Given the description of an element on the screen output the (x, y) to click on. 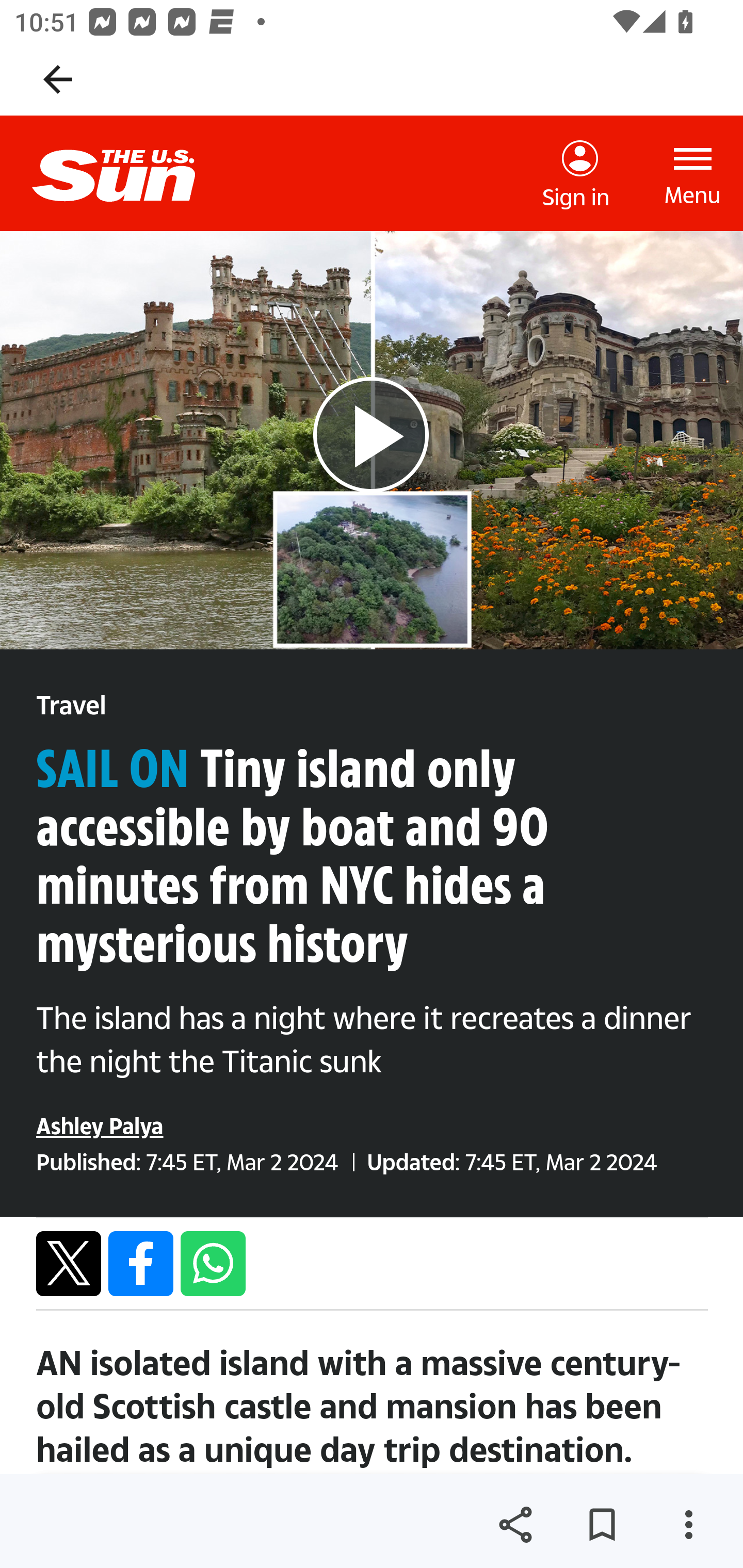
Navigate up (57, 79)
Sign in to The Sun Sign in (576, 173)
The US Sun homepage The Sun (129, 172)
Open Navigation Menu (693, 172)
Play Video (370, 433)
Travel (71, 705)
Posts by Ashley Palya Ashley Palya (100, 1125)
Share by twitter (69, 1262)
Share by facebook (141, 1262)
Share by whatsapp (212, 1262)
Share (514, 1524)
Save for later (601, 1524)
More options (688, 1524)
